Given the description of an element on the screen output the (x, y) to click on. 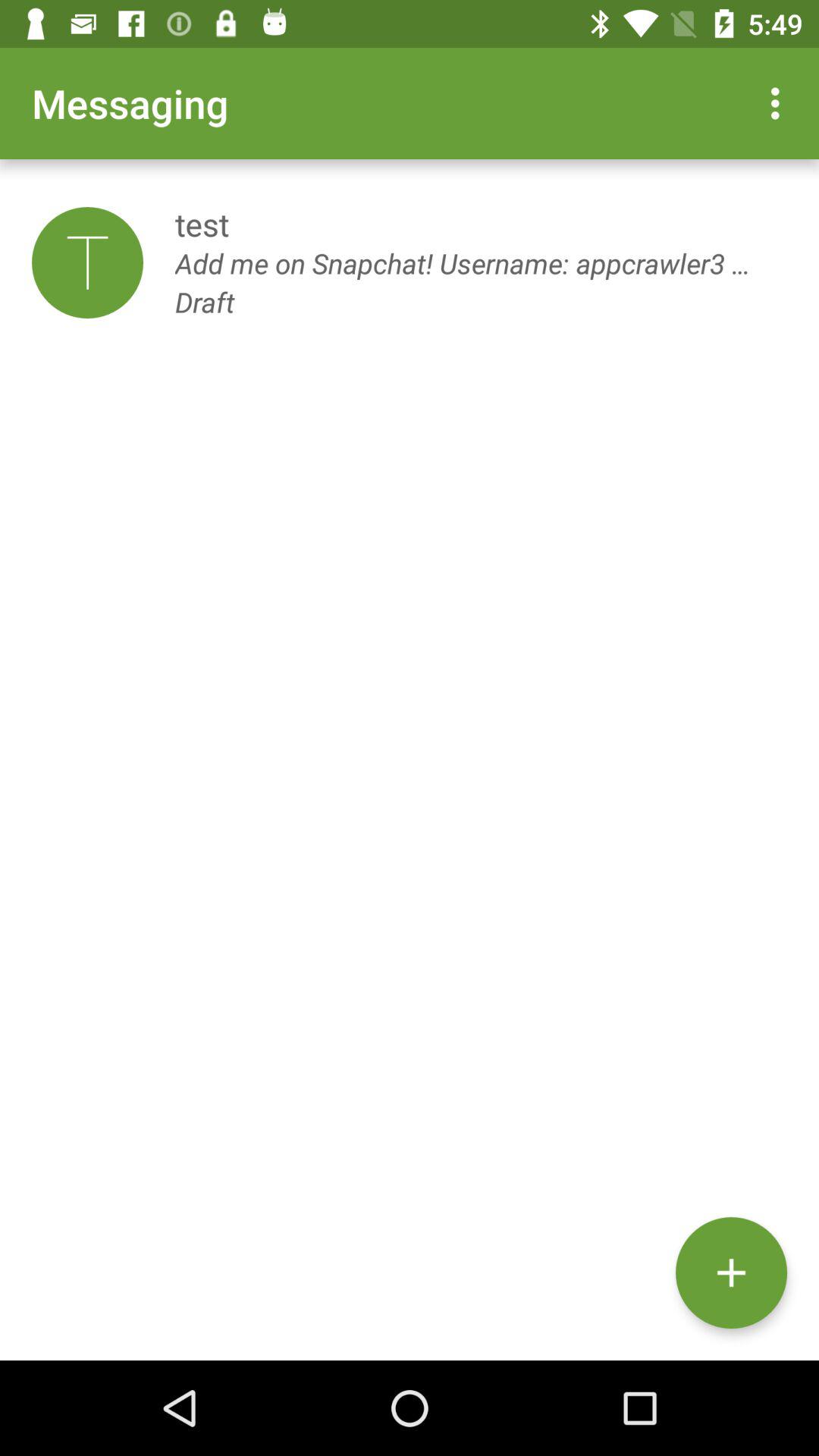
turn off the item above the test (779, 103)
